Given the description of an element on the screen output the (x, y) to click on. 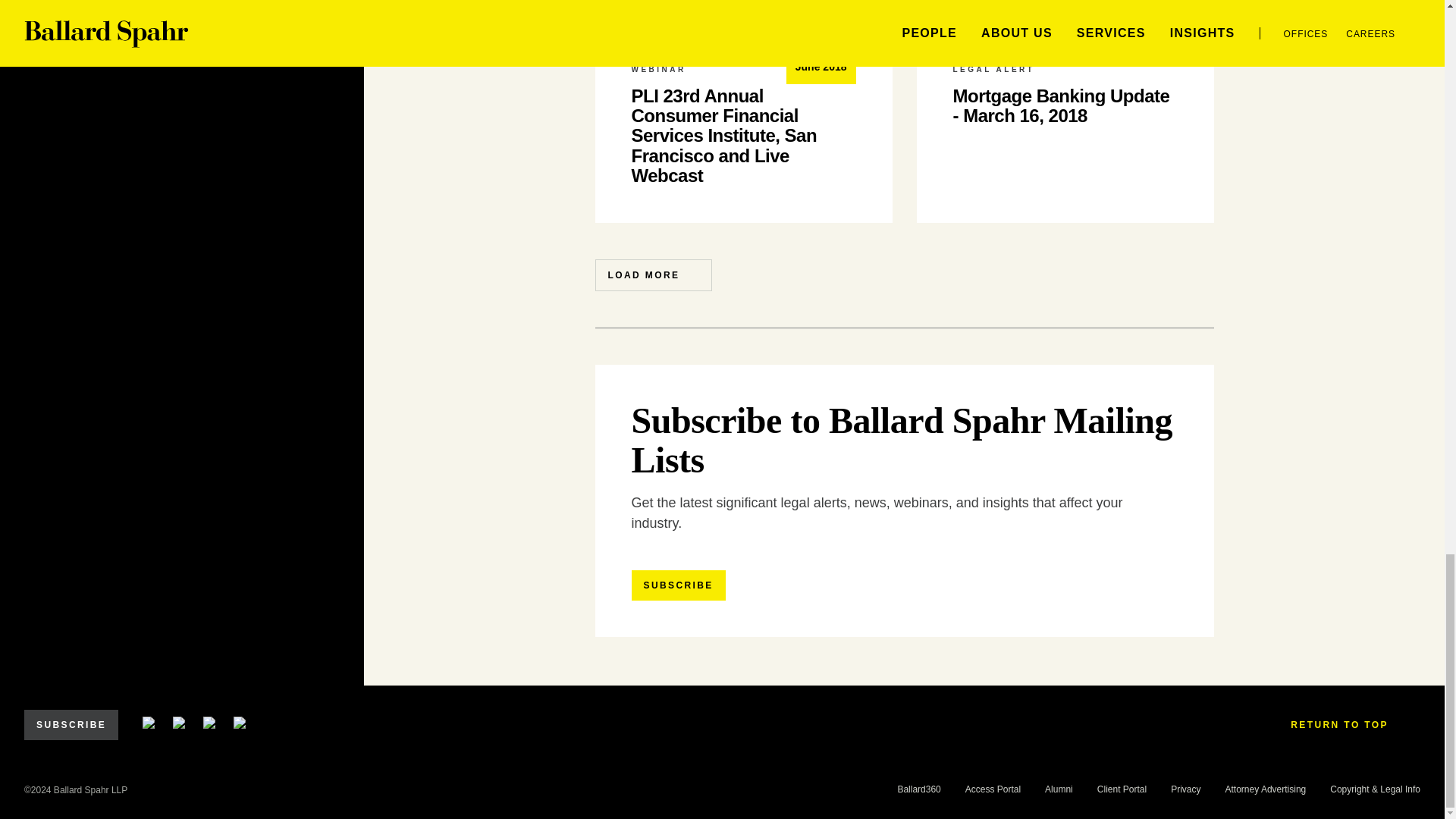
SUBSCRIBE (677, 585)
Privacy (1184, 788)
LOAD MORE (652, 275)
Alumni (1059, 788)
Client Portal (1122, 788)
Access Portal (992, 788)
Ballard360 (918, 788)
RETURN TO TOP (1349, 725)
SUBSCRIBE (70, 725)
Attorney Advertising (1265, 788)
